Given the description of an element on the screen output the (x, y) to click on. 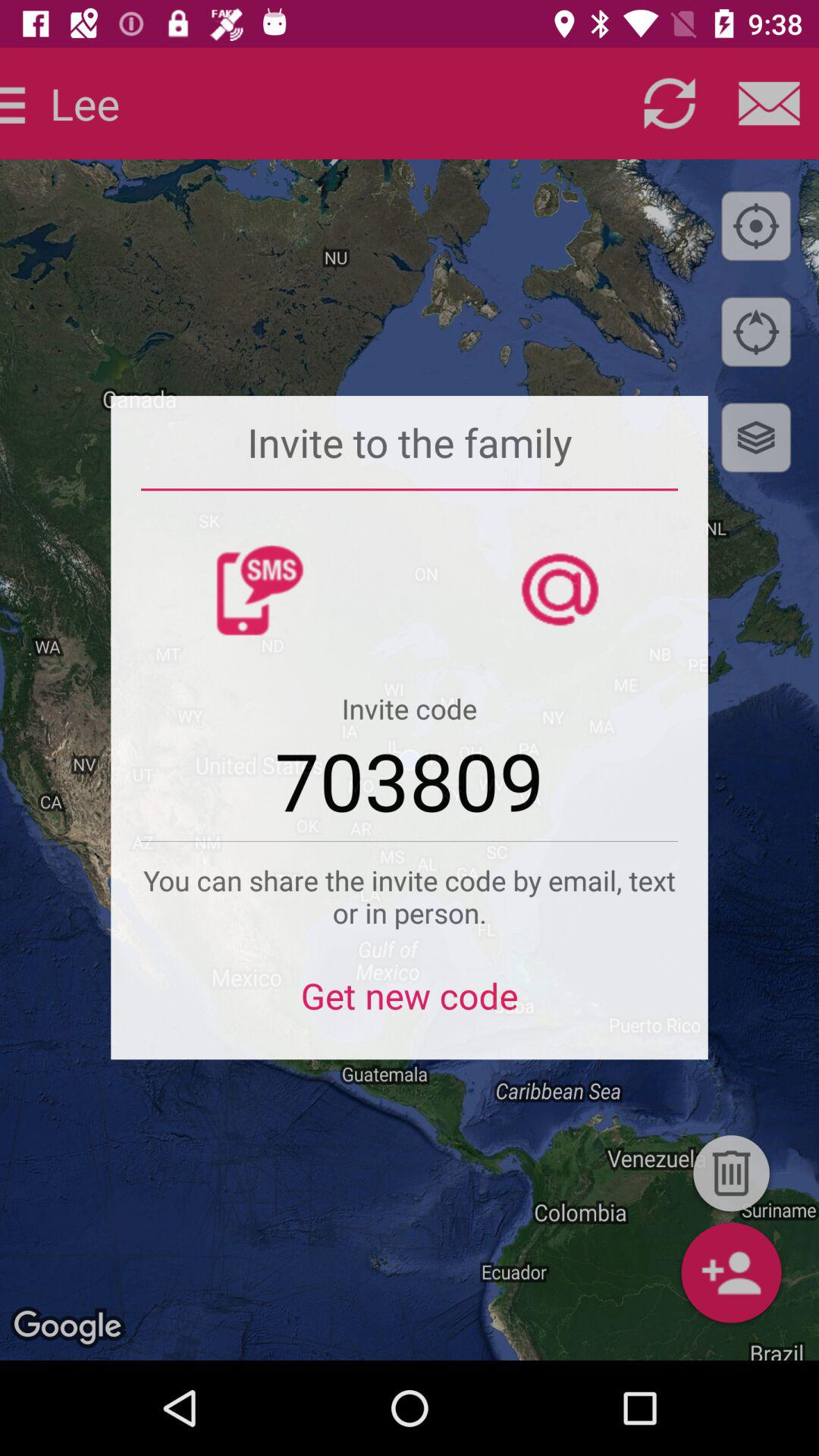
share by email (769, 103)
